Given the description of an element on the screen output the (x, y) to click on. 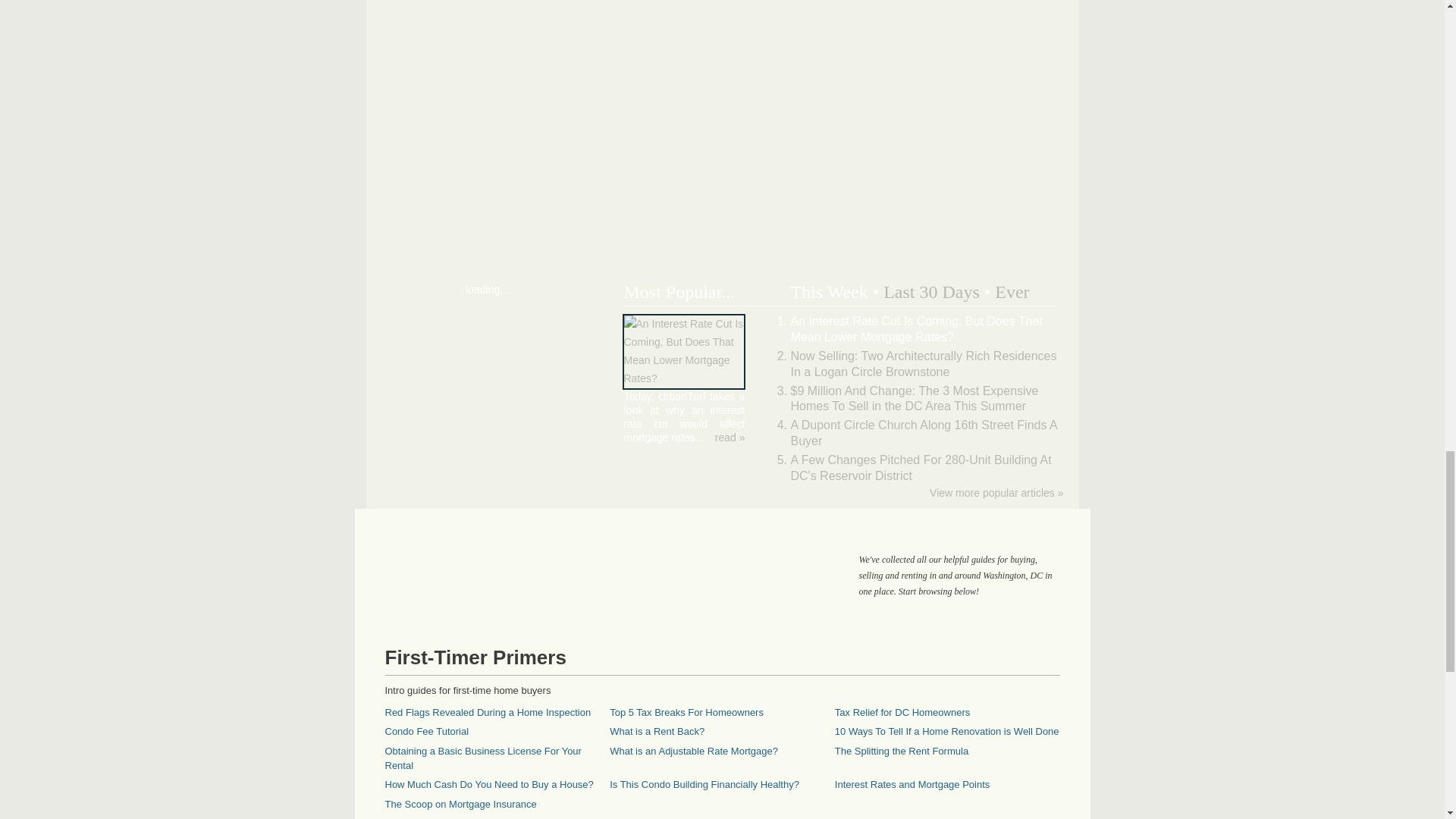
Last 30 Days (931, 291)
Read the article (729, 437)
This Week (828, 291)
Ever (1011, 291)
